Given the description of an element on the screen output the (x, y) to click on. 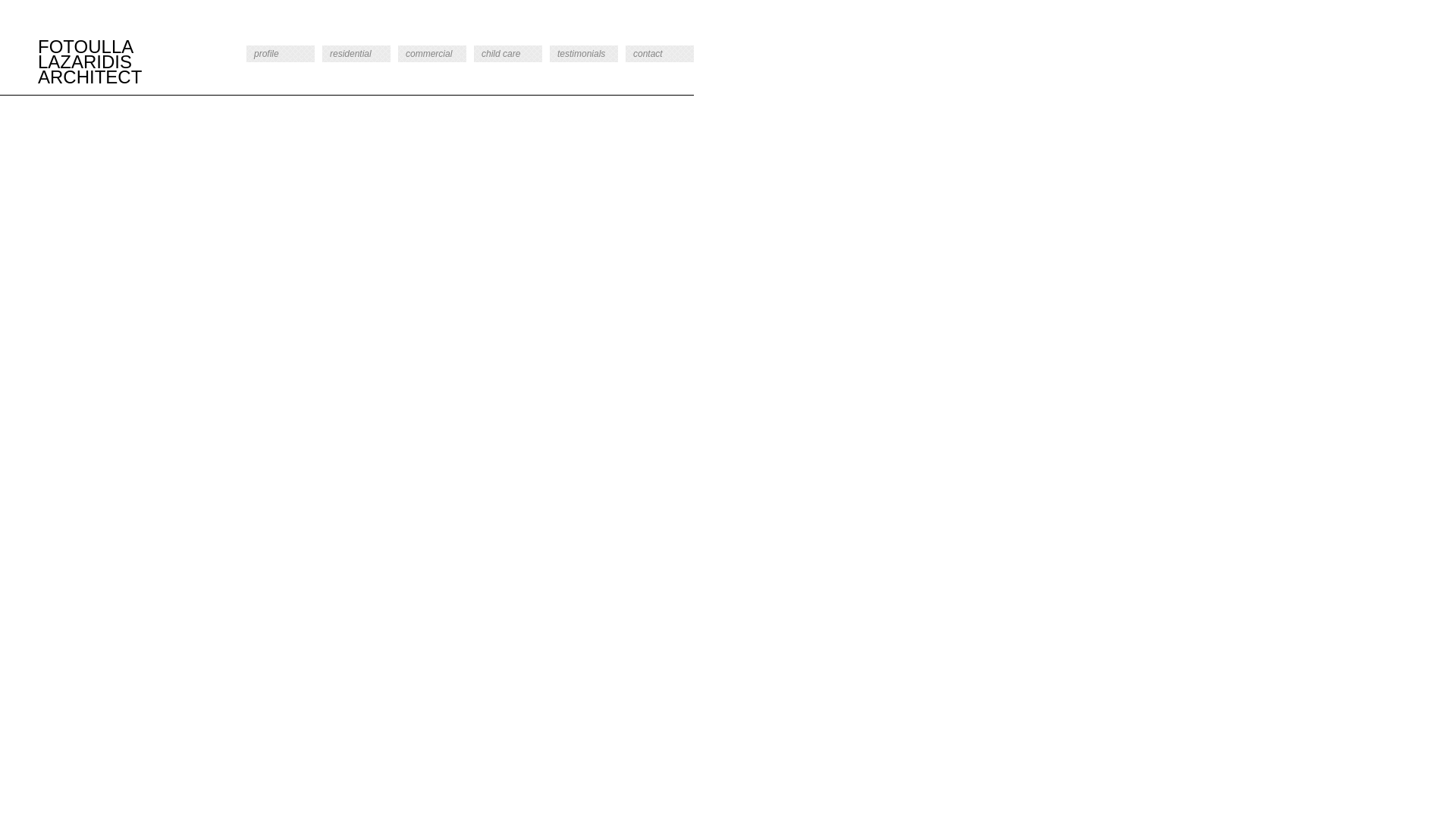
contact Element type: text (659, 53)
FOTOULLA LAZARIDIS ARCHITECT Element type: text (113, 61)
profile Element type: text (280, 53)
commercial Element type: text (432, 53)
residential Element type: text (356, 53)
testimonials Element type: text (583, 53)
child care Element type: text (507, 53)
